Given the description of an element on the screen output the (x, y) to click on. 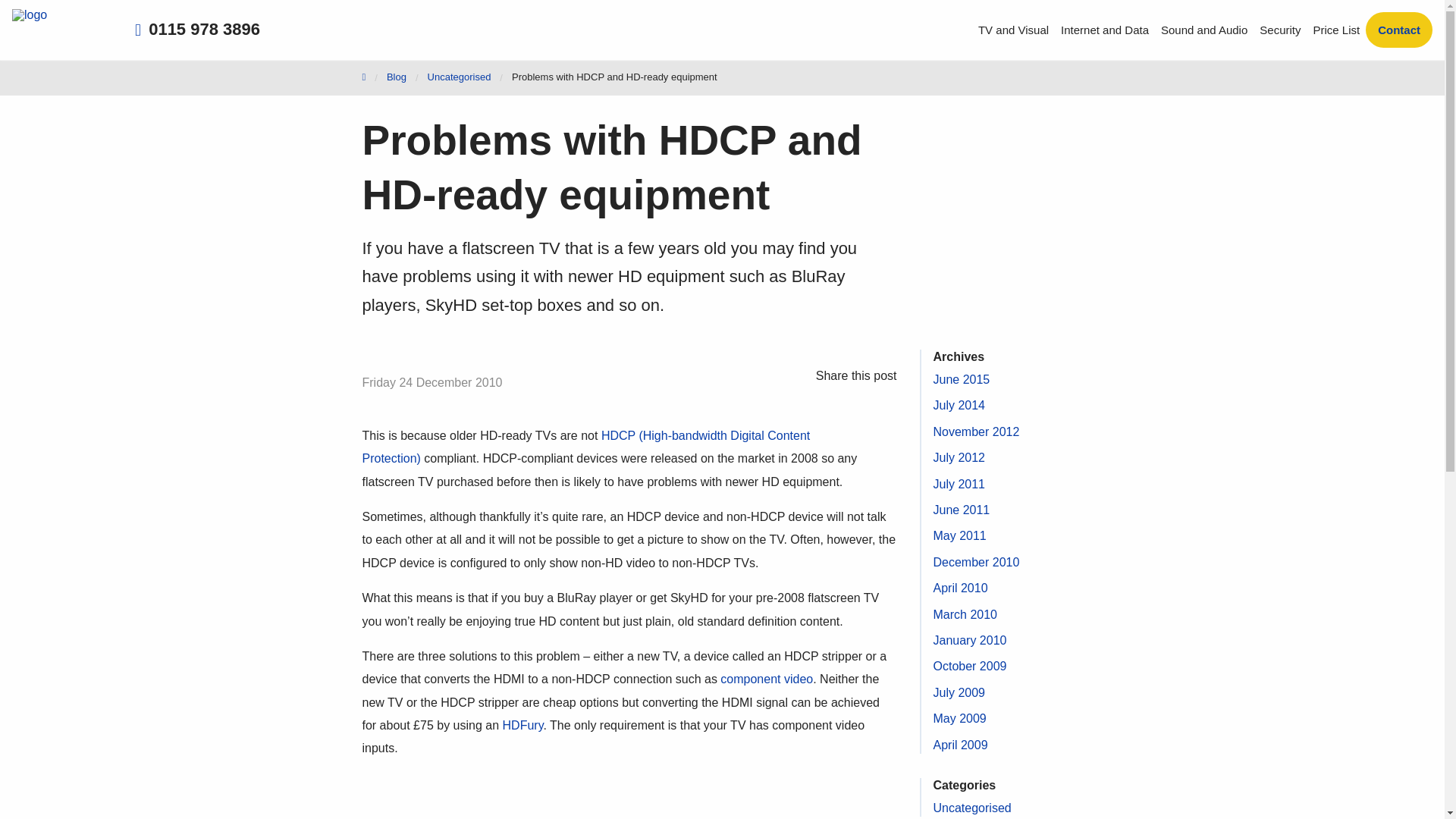
Price List (1335, 29)
TV and Visual (1013, 29)
0115 978 3896 (1363, 22)
Contact (1398, 29)
Go to Blog. (396, 76)
0115 978 3896 (197, 29)
Sound and Audio (1203, 29)
Internet and Data (1104, 29)
Security (1279, 29)
Go to the Uncategorised category archives. (460, 76)
